Given the description of an element on the screen output the (x, y) to click on. 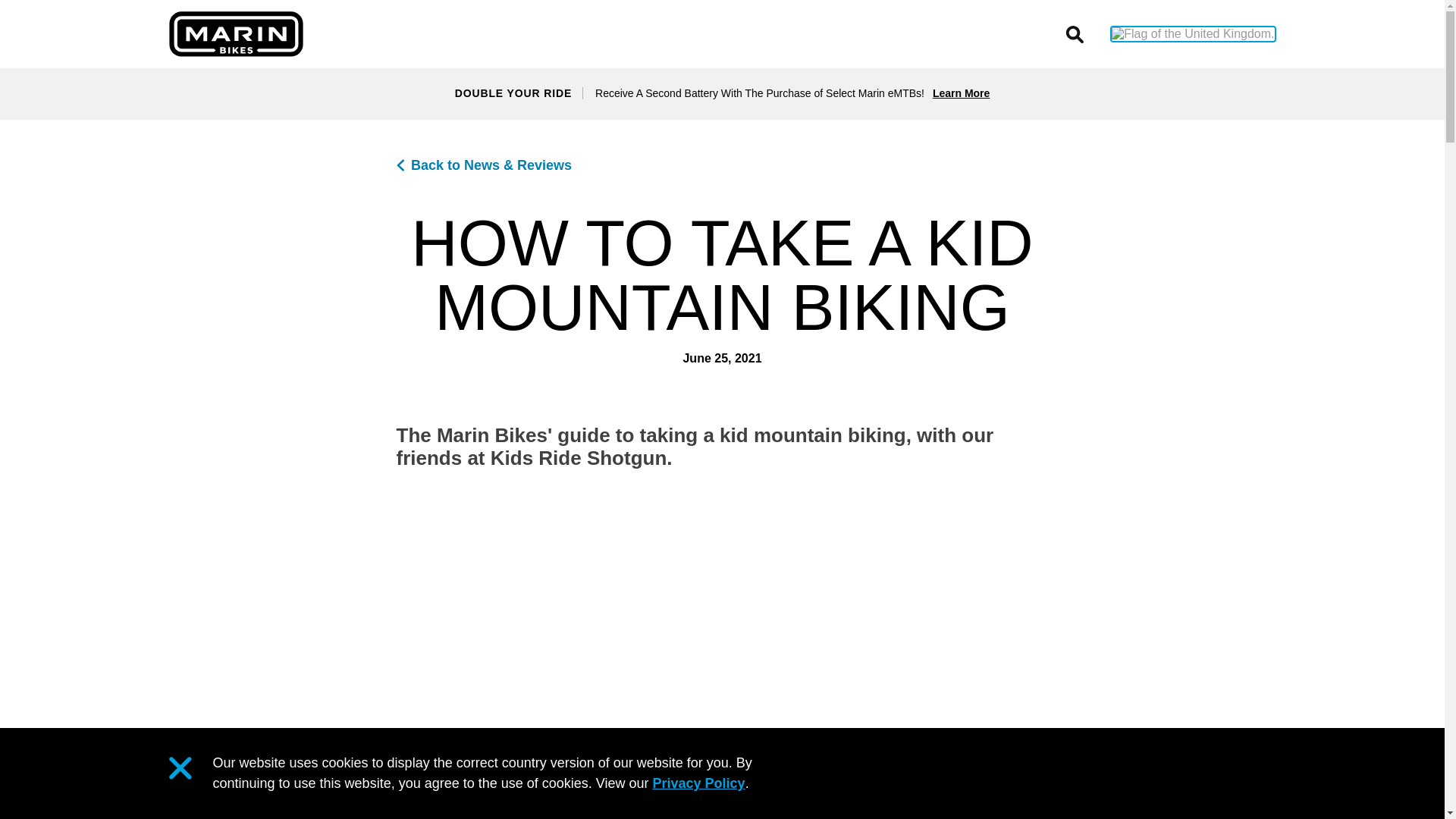
Marin Bikes (235, 33)
Learn More (961, 92)
